Given the description of an element on the screen output the (x, y) to click on. 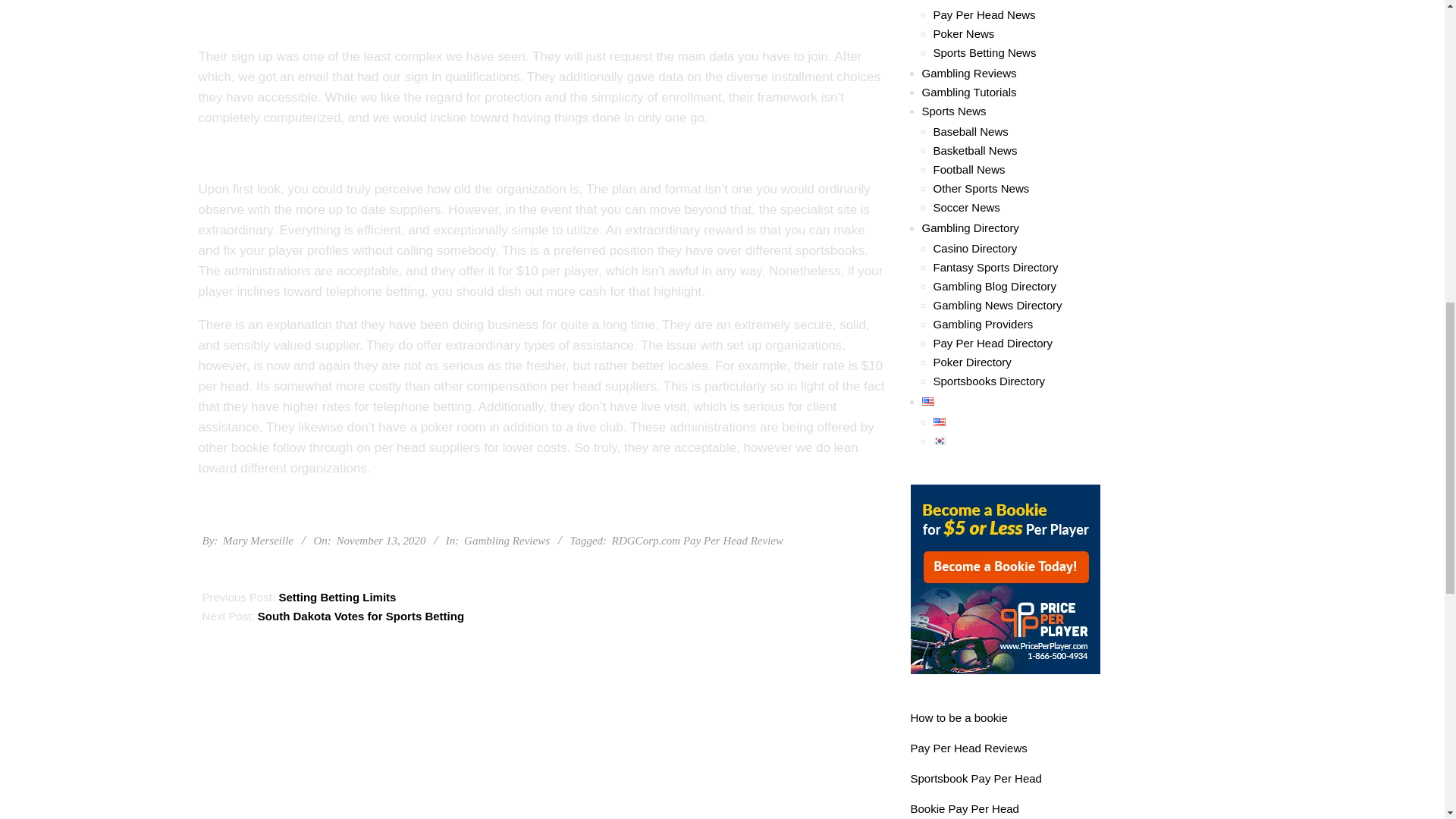
RDGCorp.com Pay Per Head Review (697, 540)
Setting Betting Limits (337, 596)
Mary Merseille (258, 540)
Posts by Mary Merseille (258, 540)
Friday, November 13, 2020, 12:16 pm (380, 540)
Gambling Reviews (507, 540)
